Given the description of an element on the screen output the (x, y) to click on. 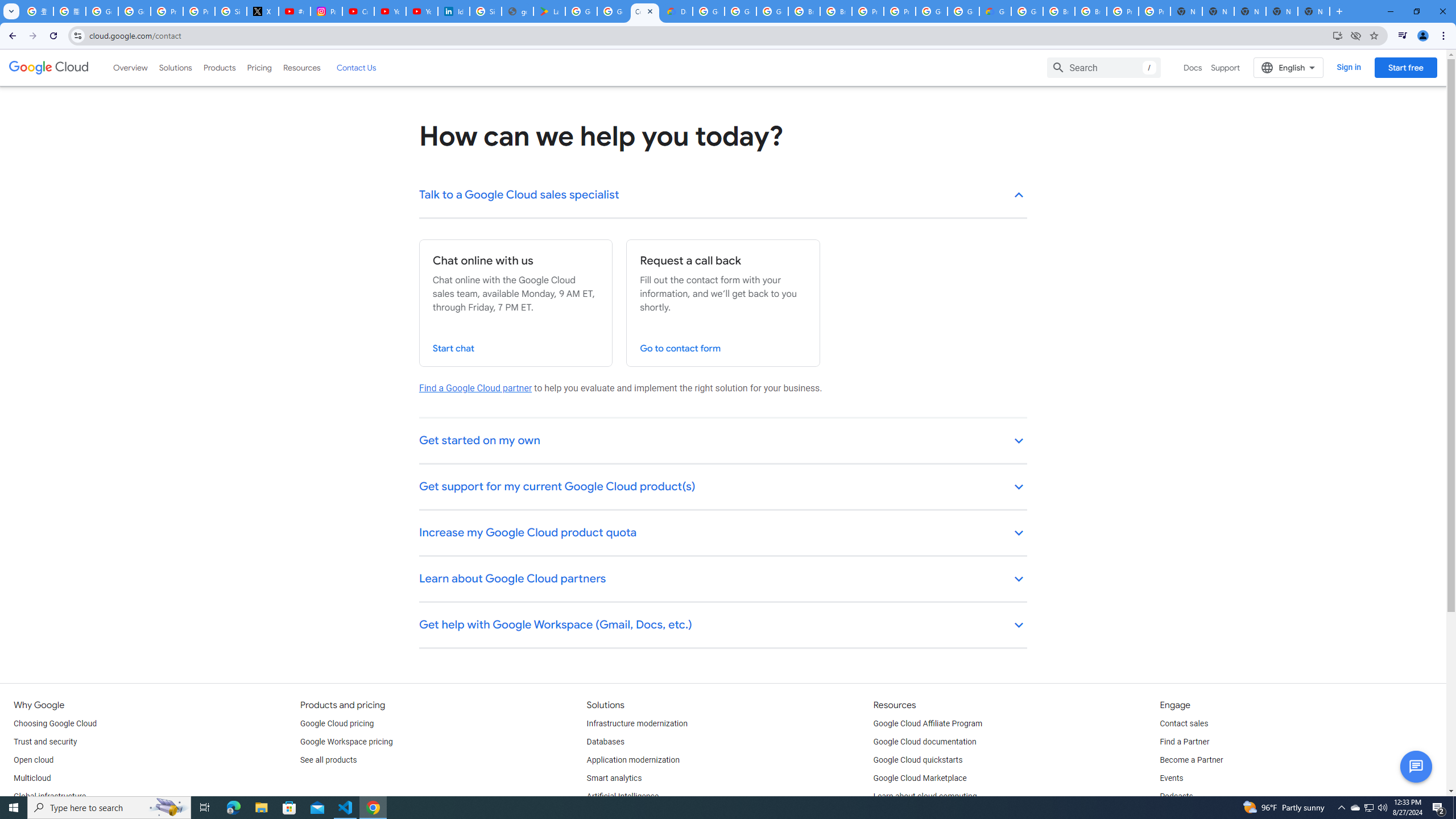
Increase my Google Cloud product quota keyboard_arrow_down (723, 533)
See all products (327, 760)
Open cloud (33, 760)
Resources (301, 67)
Google Cloud Platform (963, 11)
